Given the description of an element on the screen output the (x, y) to click on. 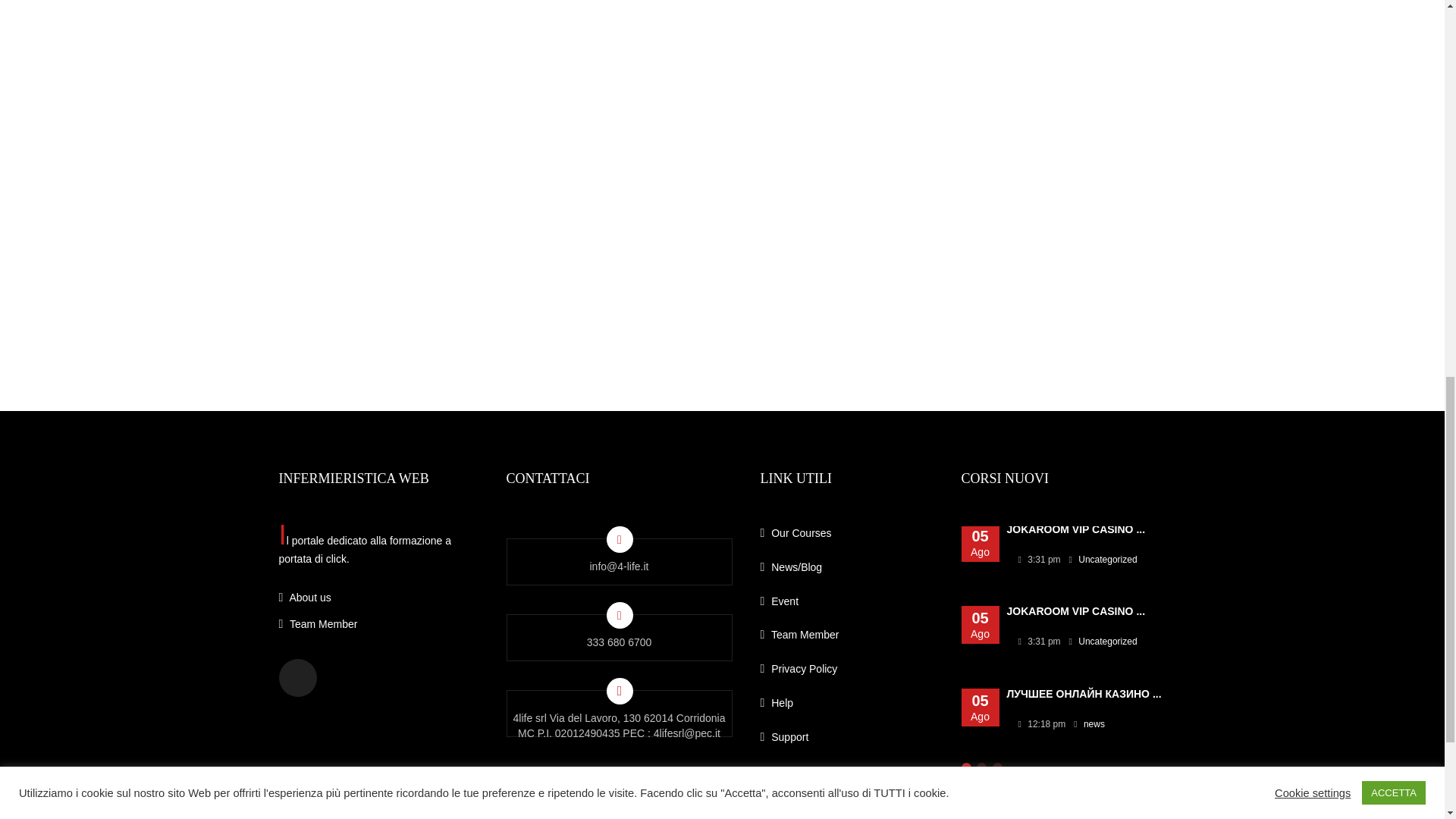
Our Courses (848, 537)
Team Member (848, 639)
Event (848, 605)
Education (848, 775)
Privacy Policy (848, 672)
Support (848, 741)
Help (848, 707)
About us (381, 598)
Team Member (381, 624)
333 680 6700 (619, 646)
